Given the description of an element on the screen output the (x, y) to click on. 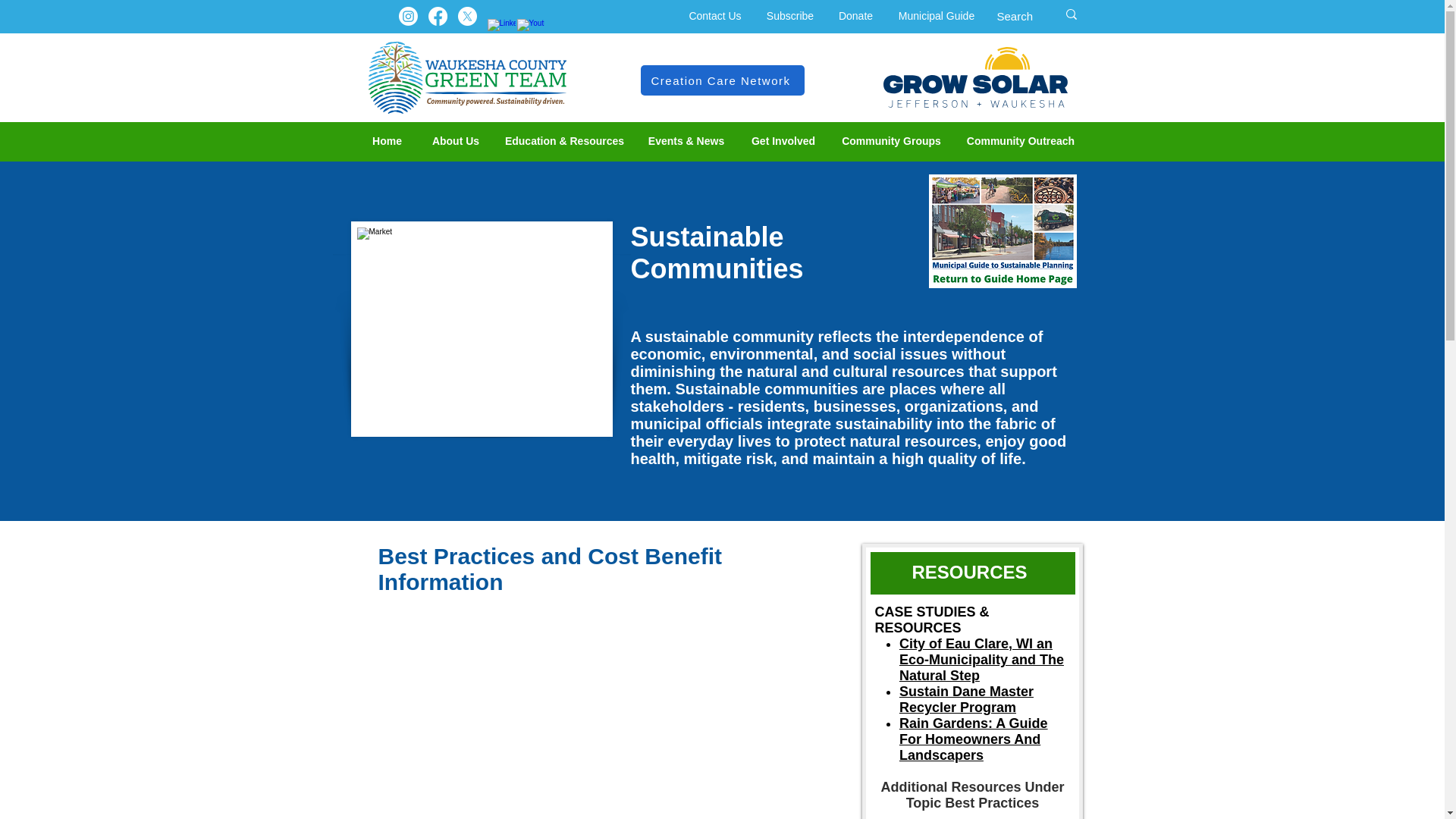
Municipal Guide (936, 15)
Subscribe (789, 15)
Donate (856, 15)
Contact Us (715, 15)
Home (386, 141)
Creation Care Network (721, 80)
